Given the description of an element on the screen output the (x, y) to click on. 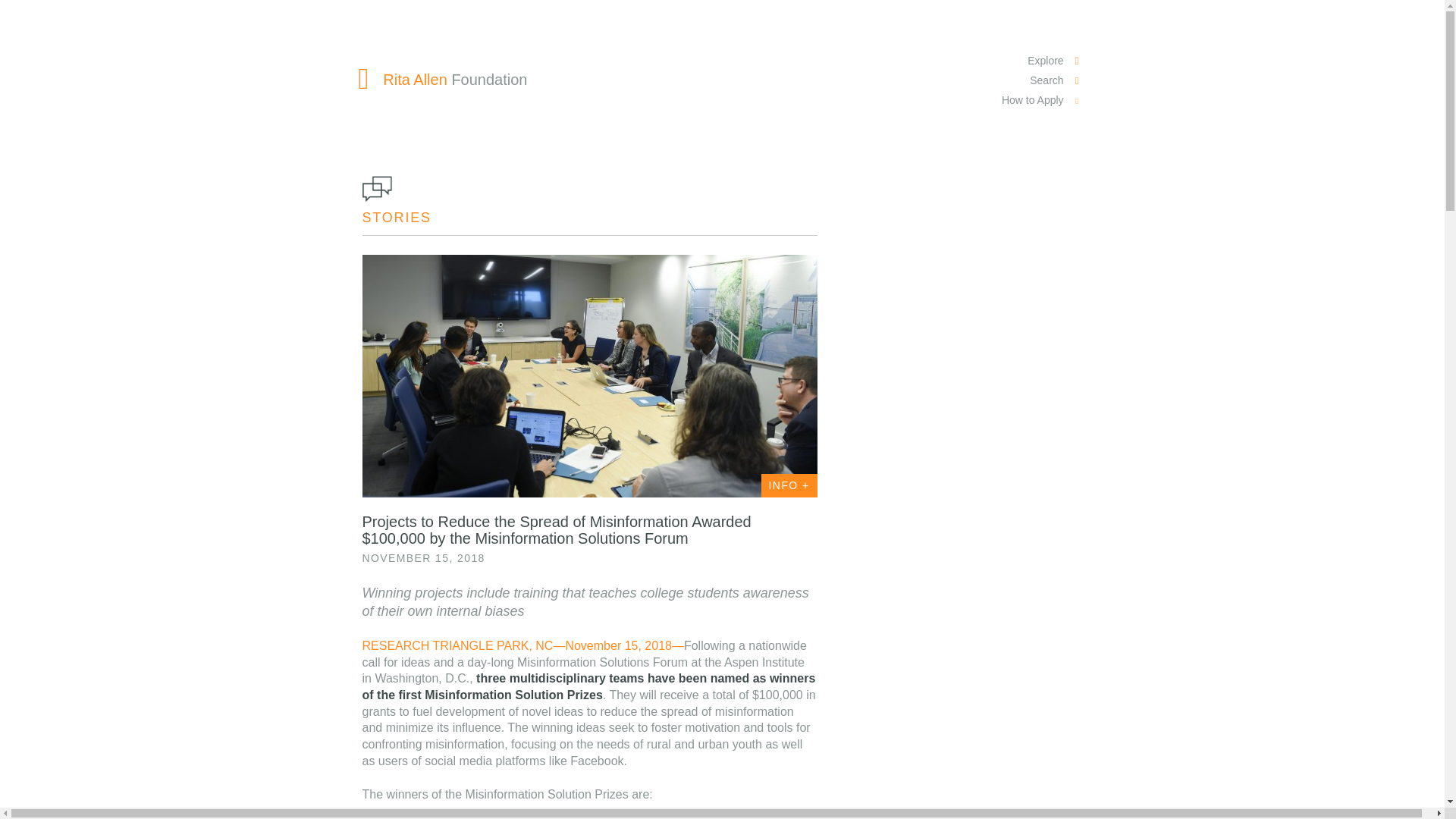
Explore (1042, 60)
STORIES (396, 217)
Press Enter to Search (406, 115)
How to Apply (1042, 99)
INFO (788, 485)
Search (1042, 79)
Rita Allen Foundation (442, 78)
